Given the description of an element on the screen output the (x, y) to click on. 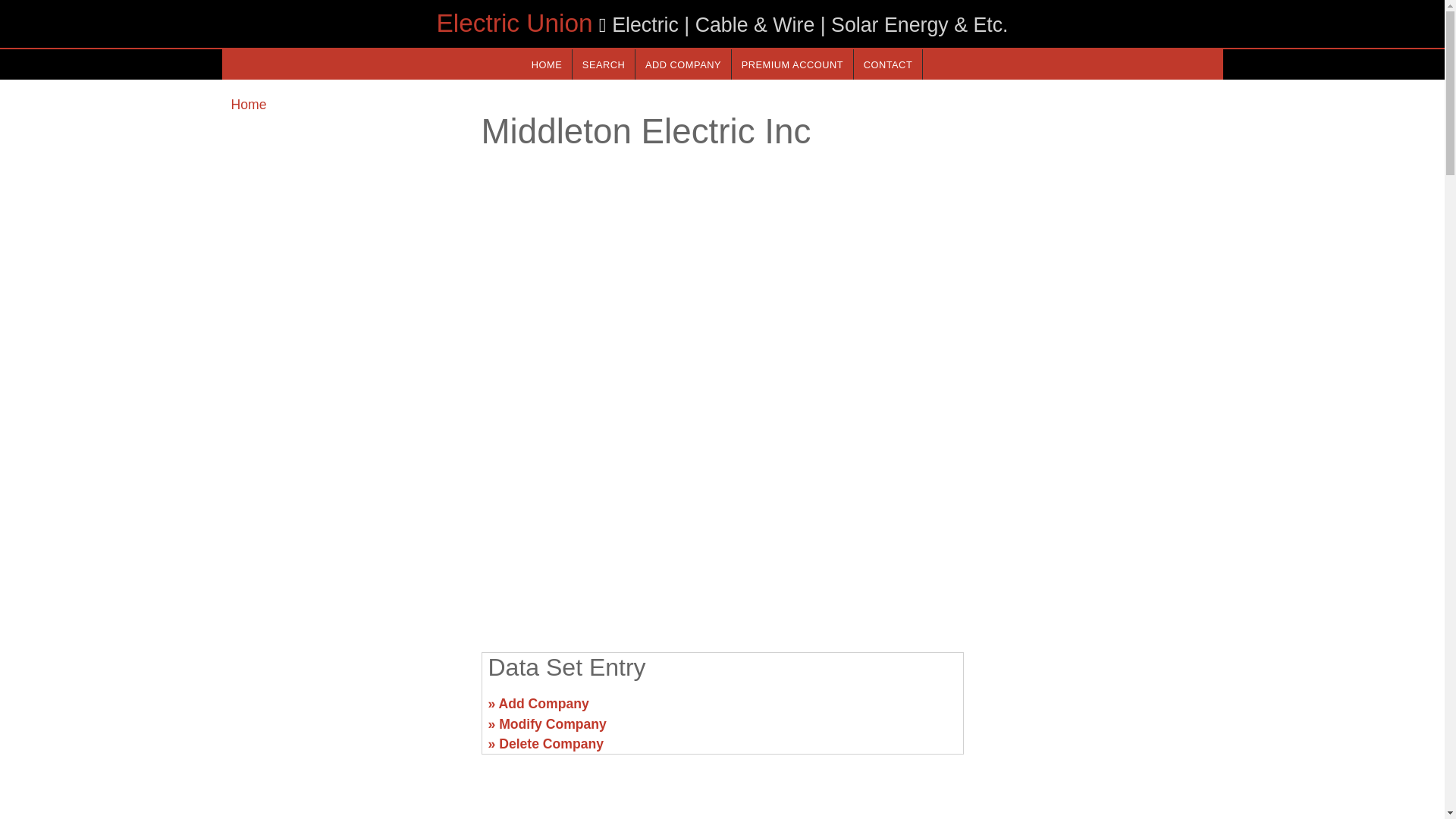
PREMIUM ACCOUNT (792, 64)
Electric Union (513, 22)
SEARCH (603, 64)
Advertisement (1096, 710)
HOME (546, 64)
Premium account (792, 64)
Advertisement (721, 522)
Home (248, 104)
Search in this webseite. (603, 64)
